Given the description of an element on the screen output the (x, y) to click on. 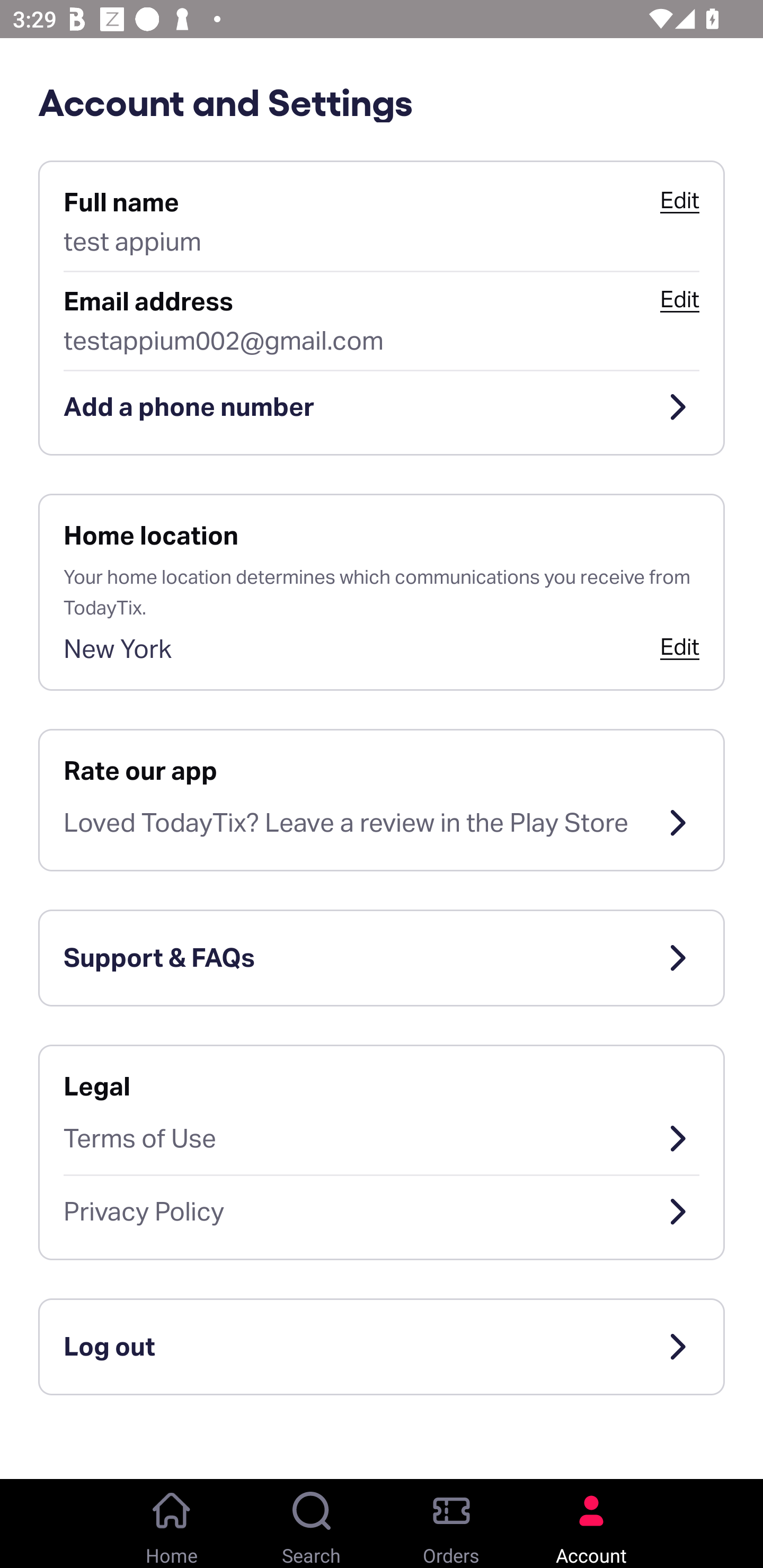
Edit (679, 200)
Edit (679, 299)
Add a phone number (381, 406)
Edit (679, 646)
Loved TodayTix? Leave a review in the Play Store (381, 822)
Support & FAQs (381, 957)
Terms of Use (381, 1137)
Privacy Policy (381, 1211)
Log out (381, 1346)
Home (171, 1523)
Search (311, 1523)
Orders (451, 1523)
